Given the description of an element on the screen output the (x, y) to click on. 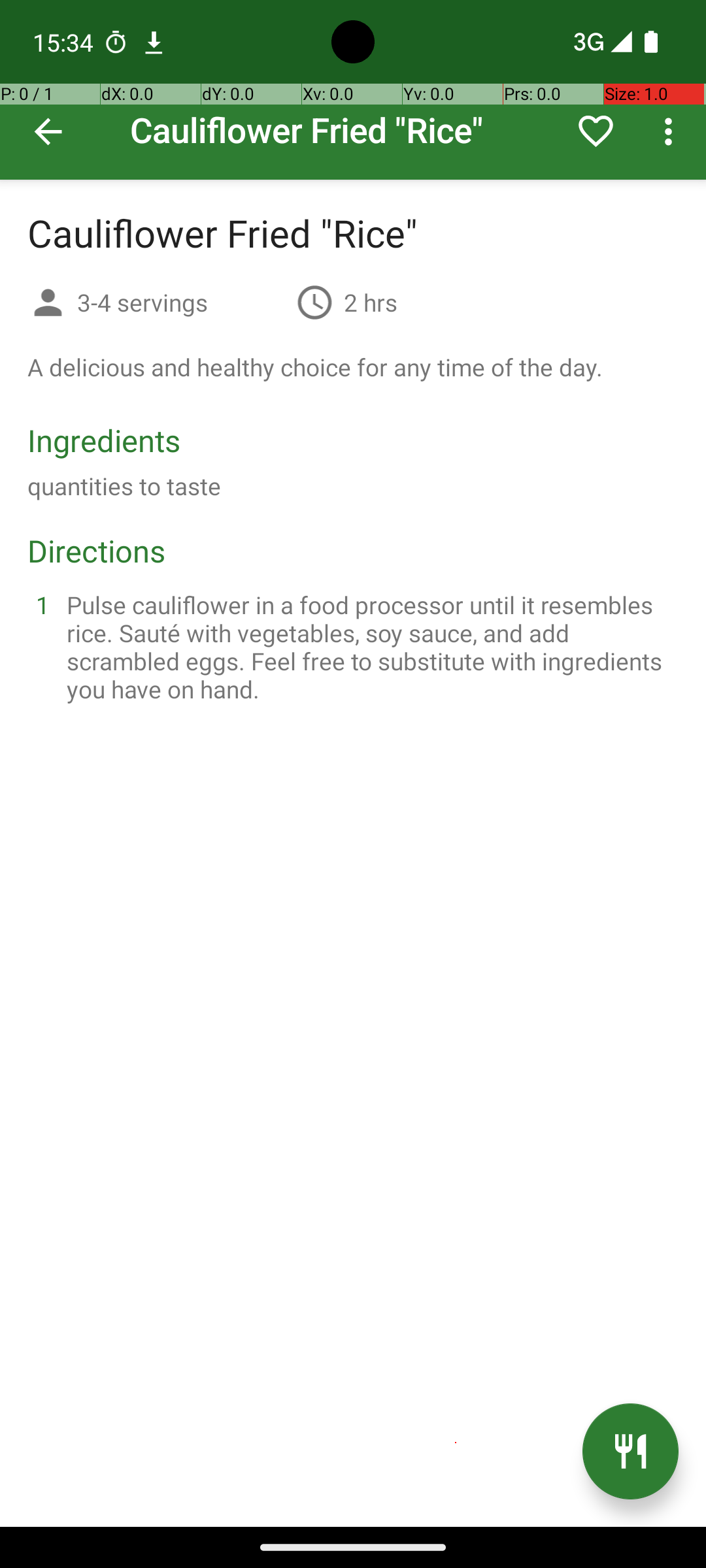
Pulse cauliflower in a food processor until it resembles rice. Sauté with vegetables, soy sauce, and add scrambled eggs. Feel free to substitute with ingredients you have on hand. Element type: android.widget.TextView (368, 646)
